Given the description of an element on the screen output the (x, y) to click on. 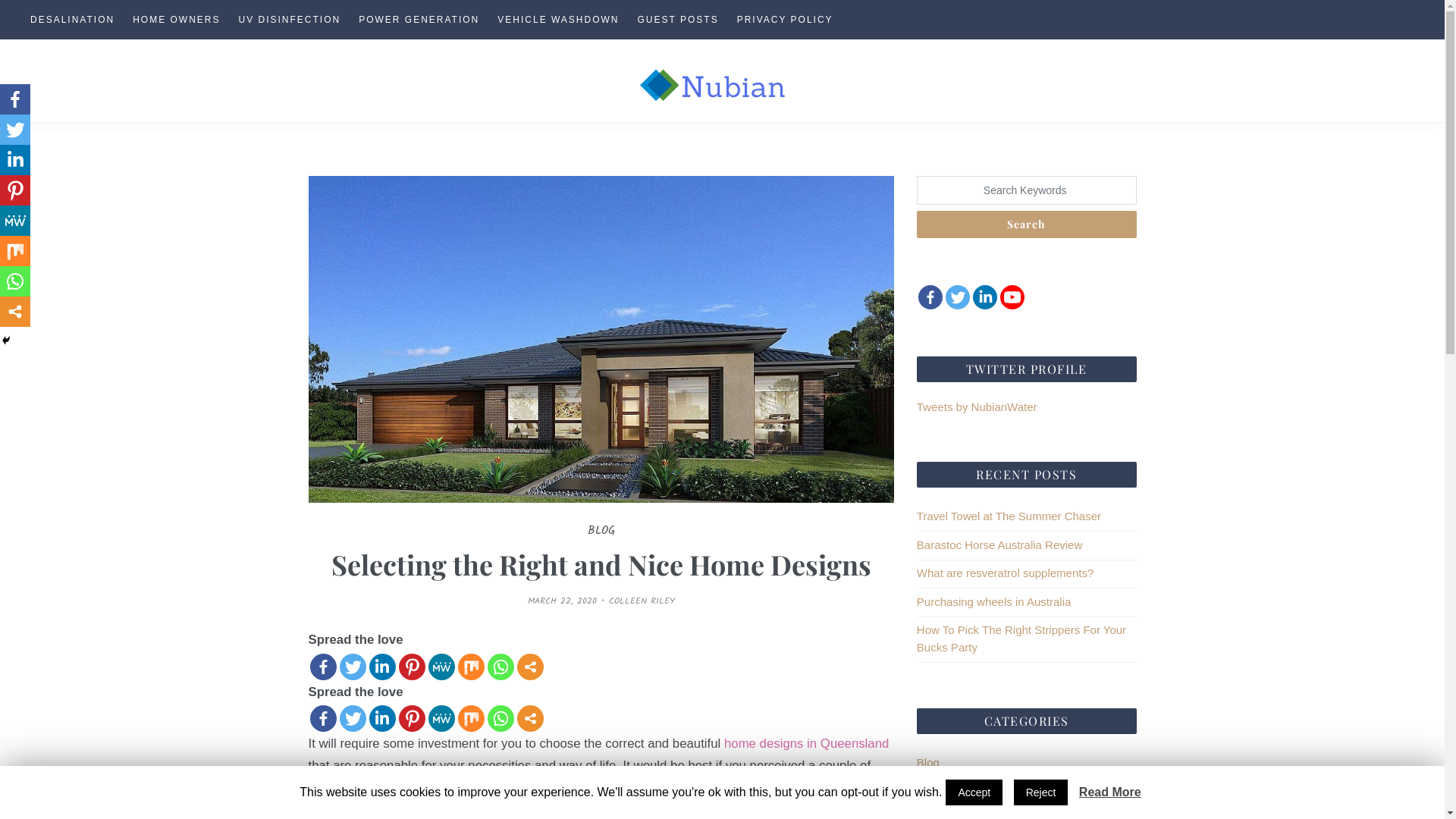
MeWe Element type: hover (440, 718)
Accept Element type: text (973, 792)
Twitter Element type: hover (352, 666)
Pinterest Element type: hover (411, 718)
MeWe Element type: hover (440, 666)
GUEST POSTS Element type: text (678, 19)
Linkedin Element type: hover (381, 666)
HOME OWNERS Element type: text (176, 19)
Facebook Element type: hover (930, 297)
MARCH 22, 2020 Element type: text (561, 600)
More Element type: hover (530, 718)
Skip to content Element type: text (0, 0)
How To Pick The Right Strippers For Your Bucks Party Element type: text (1021, 638)
VEHICLE WASHDOWN Element type: text (557, 19)
Linkedin Element type: hover (381, 718)
Tweets by NubianWater Element type: text (976, 406)
Twitter Element type: hover (957, 297)
Barastoc Horse Australia Review Element type: text (999, 544)
UV DISINFECTION Element type: text (289, 19)
Search for: Element type: hover (1026, 189)
Pinterest Element type: hover (411, 666)
DESALINATION Element type: text (72, 19)
Hide Element type: hover (6, 340)
Pinterest Element type: hover (15, 190)
Whatsapp Element type: hover (499, 718)
PRIVACY POLICY Element type: text (785, 19)
Whatsapp Element type: hover (499, 666)
home designs in Queensland Element type: text (806, 743)
Facebook Element type: hover (322, 666)
Twitter Element type: hover (352, 718)
Reject Element type: text (1040, 792)
Linkedin Element type: hover (15, 159)
Linkedin Company Element type: hover (984, 297)
Facebook Element type: hover (322, 718)
COLLEEN RILEY Element type: text (641, 600)
Mix Element type: hover (15, 250)
Facebook Element type: hover (15, 99)
Twitter Element type: hover (15, 129)
Read More Element type: text (1110, 791)
More Element type: hover (15, 311)
Youtube Element type: hover (1012, 297)
Mix Element type: hover (471, 666)
Travel Towel at The Summer Chaser Element type: text (1008, 515)
Mix Element type: hover (471, 718)
Blog Element type: text (927, 762)
What are resveratrol supplements? Element type: text (1004, 572)
Whatsapp Element type: hover (15, 281)
Search Element type: text (1026, 224)
POWER GENERATION Element type: text (418, 19)
More Element type: hover (530, 666)
Nubian Element type: text (17, 251)
Purchasing wheels in Australia Element type: text (993, 601)
MeWe Element type: hover (15, 220)
